Given the description of an element on the screen output the (x, y) to click on. 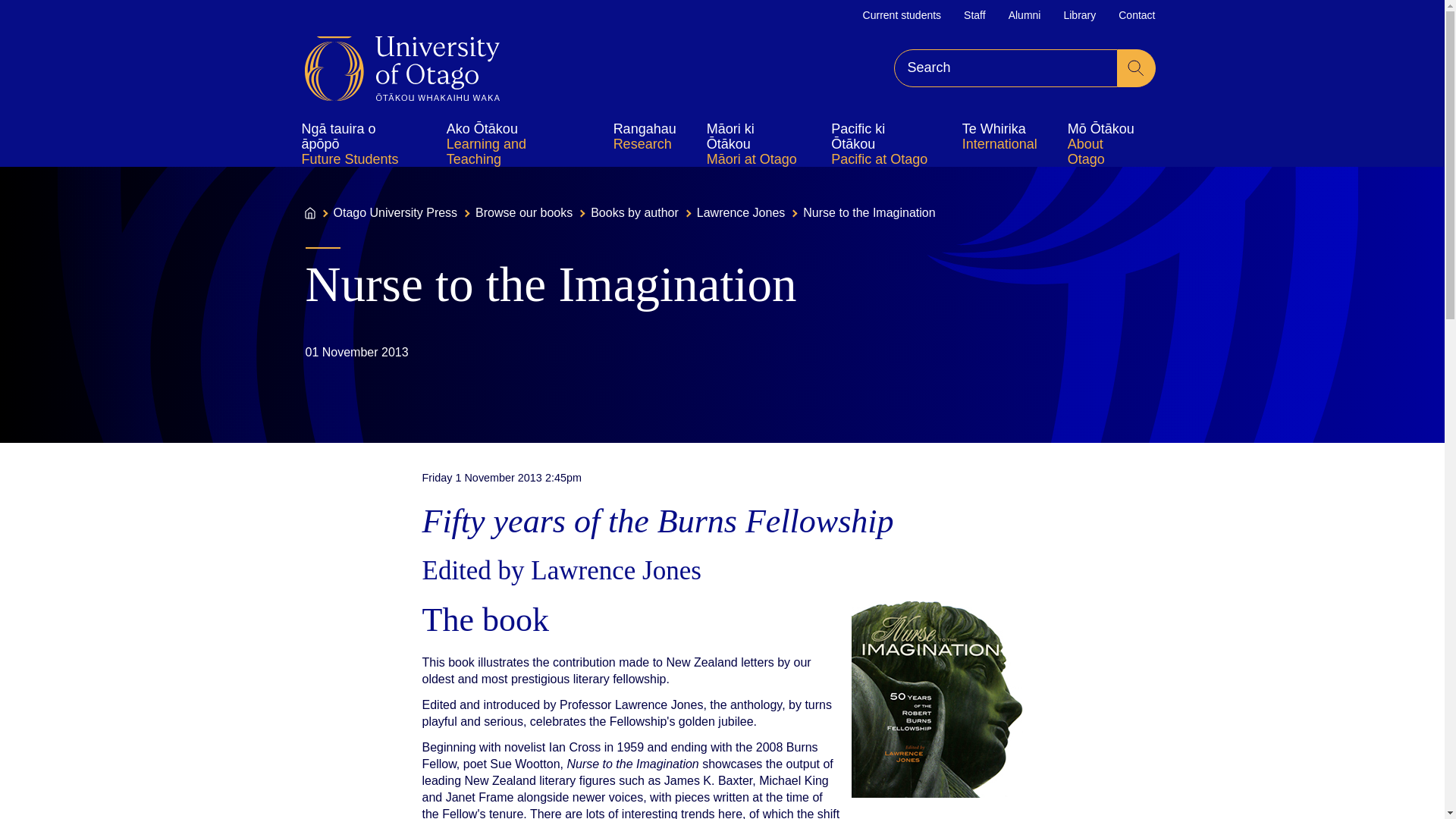
Contact (1136, 15)
Current students (902, 15)
Alumni (1025, 15)
Library (1079, 15)
Home (402, 68)
Staff (974, 15)
